Given the description of an element on the screen output the (x, y) to click on. 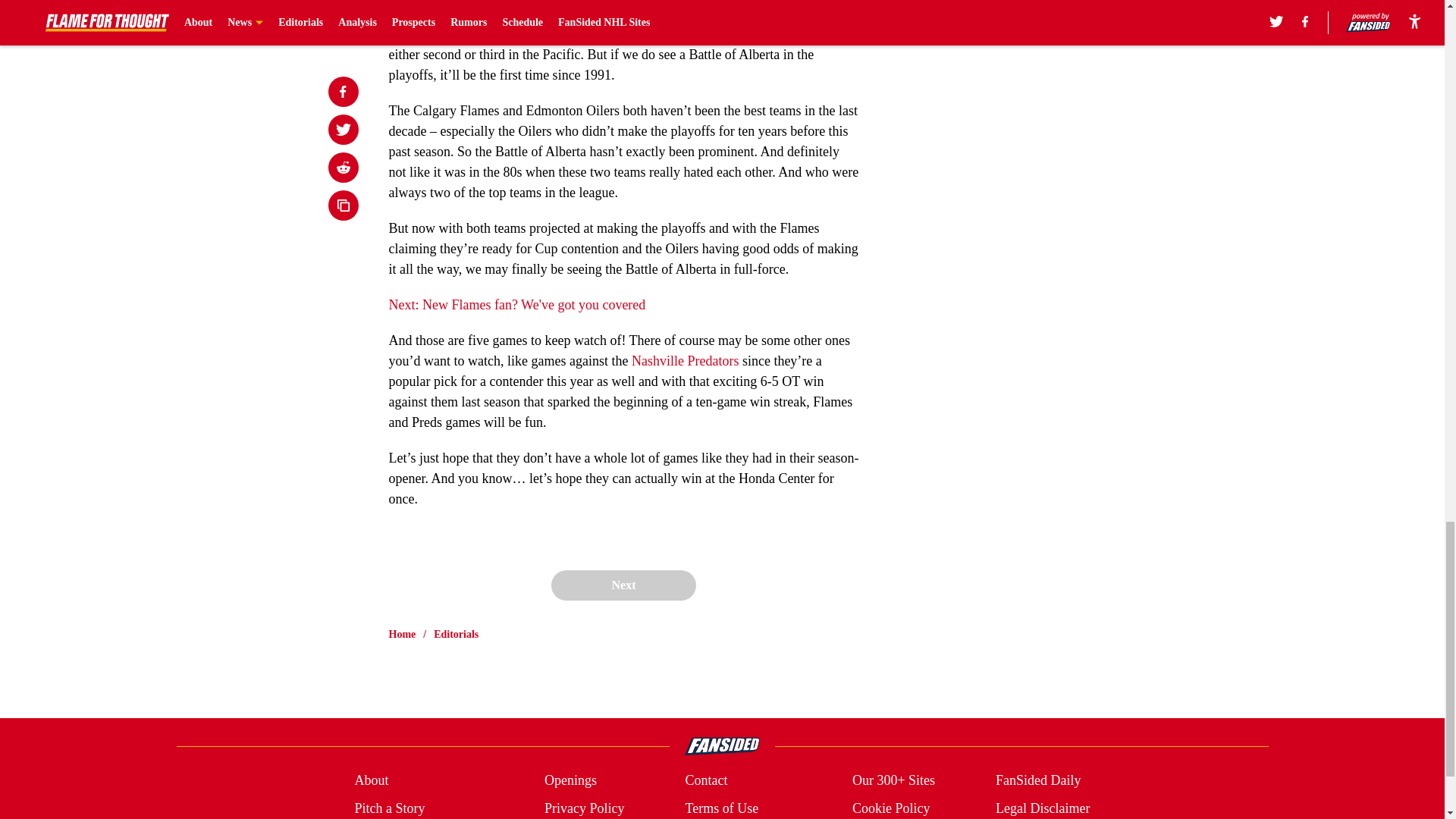
Editorials (456, 634)
Cookie Policy (890, 808)
Openings (570, 780)
Home (401, 634)
Privacy Policy (584, 808)
Nashville Predators (684, 360)
Next (622, 585)
FanSided Daily (1038, 780)
Next: New Flames fan? We've got you covered (516, 304)
Contact (705, 780)
